Given the description of an element on the screen output the (x, y) to click on. 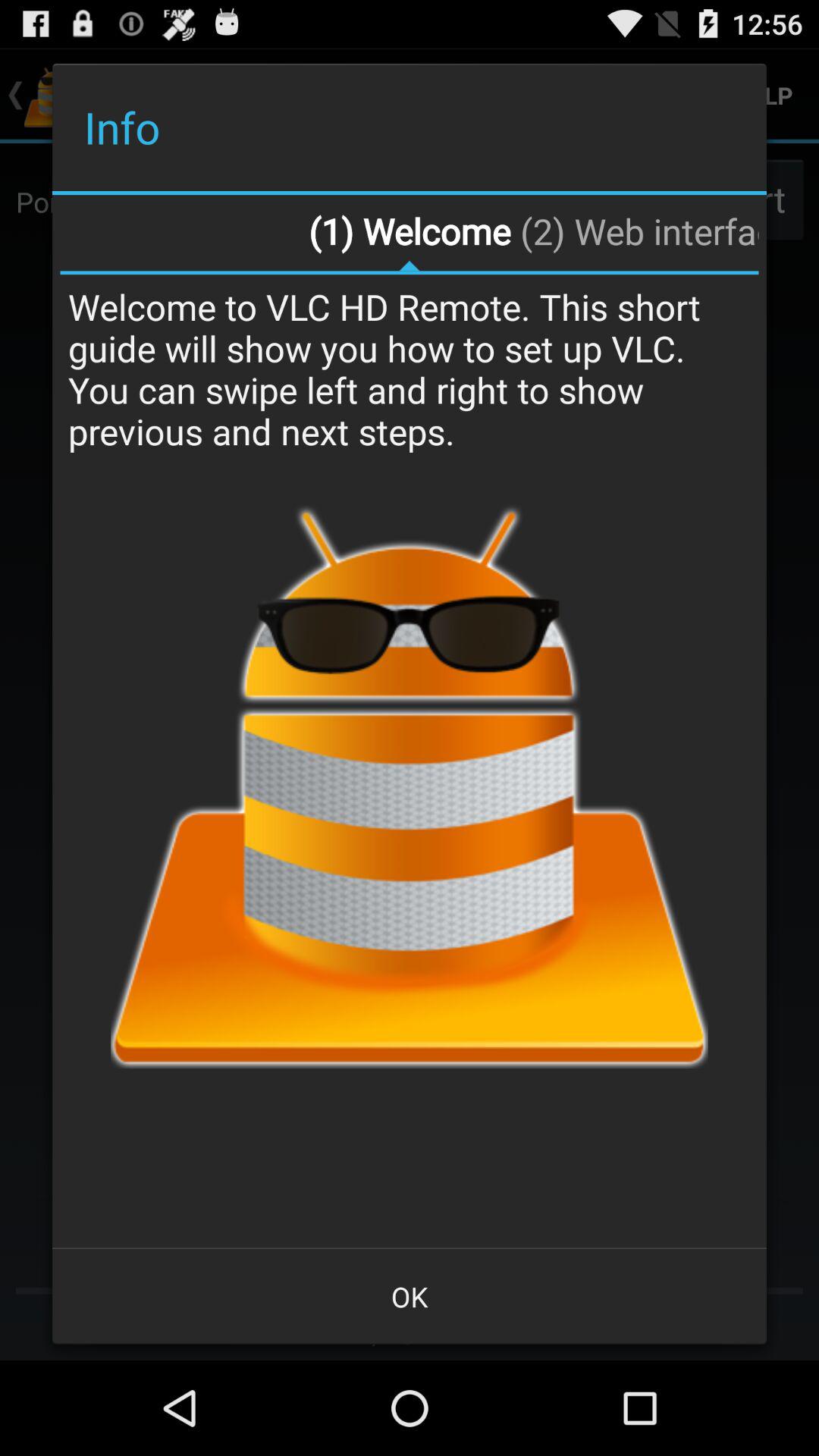
launch button at the bottom (409, 1296)
